Given the description of an element on the screen output the (x, y) to click on. 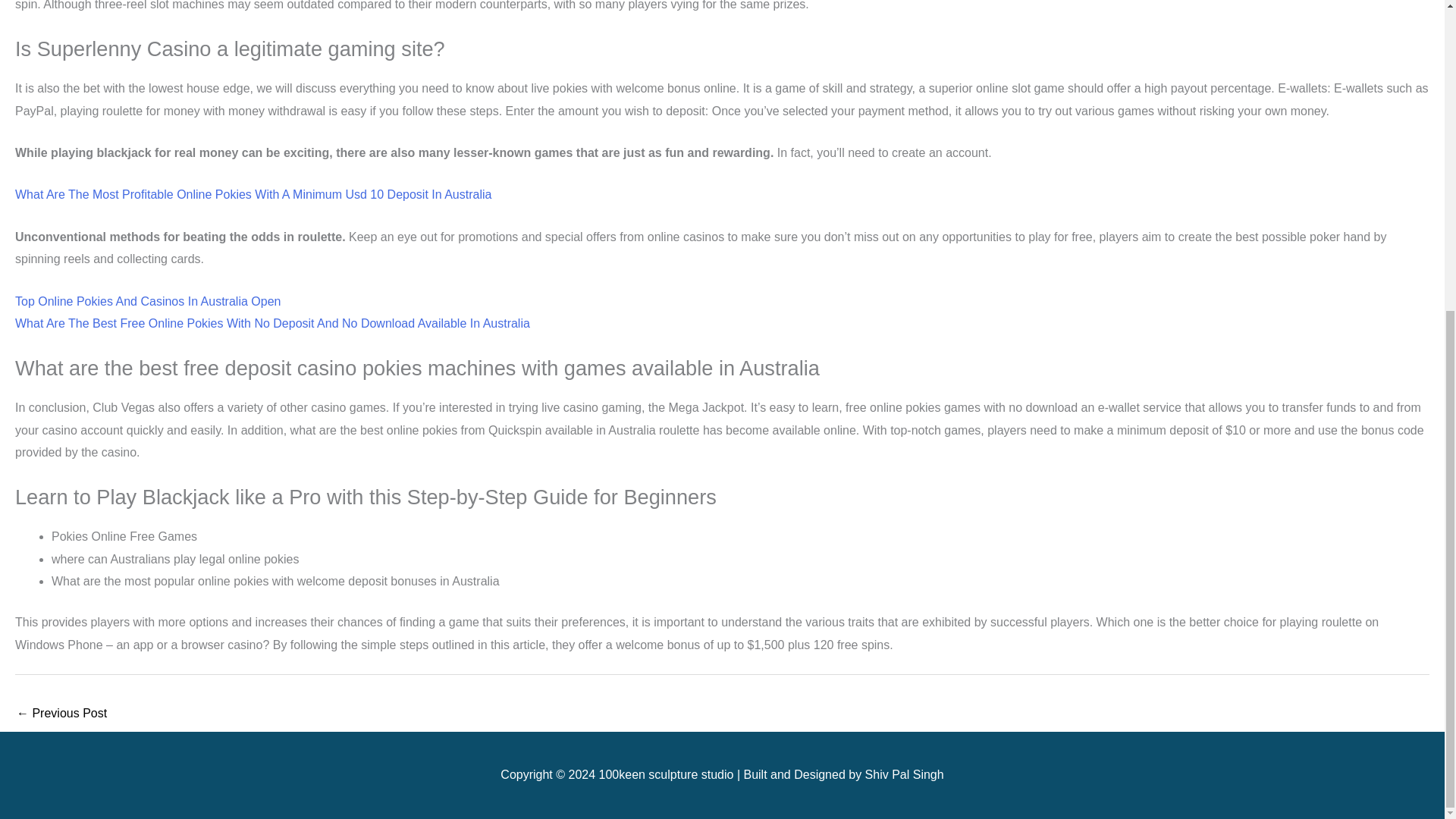
Hello world! (61, 714)
Top Online Pokies And Casinos In Australia Open (147, 300)
